Given the description of an element on the screen output the (x, y) to click on. 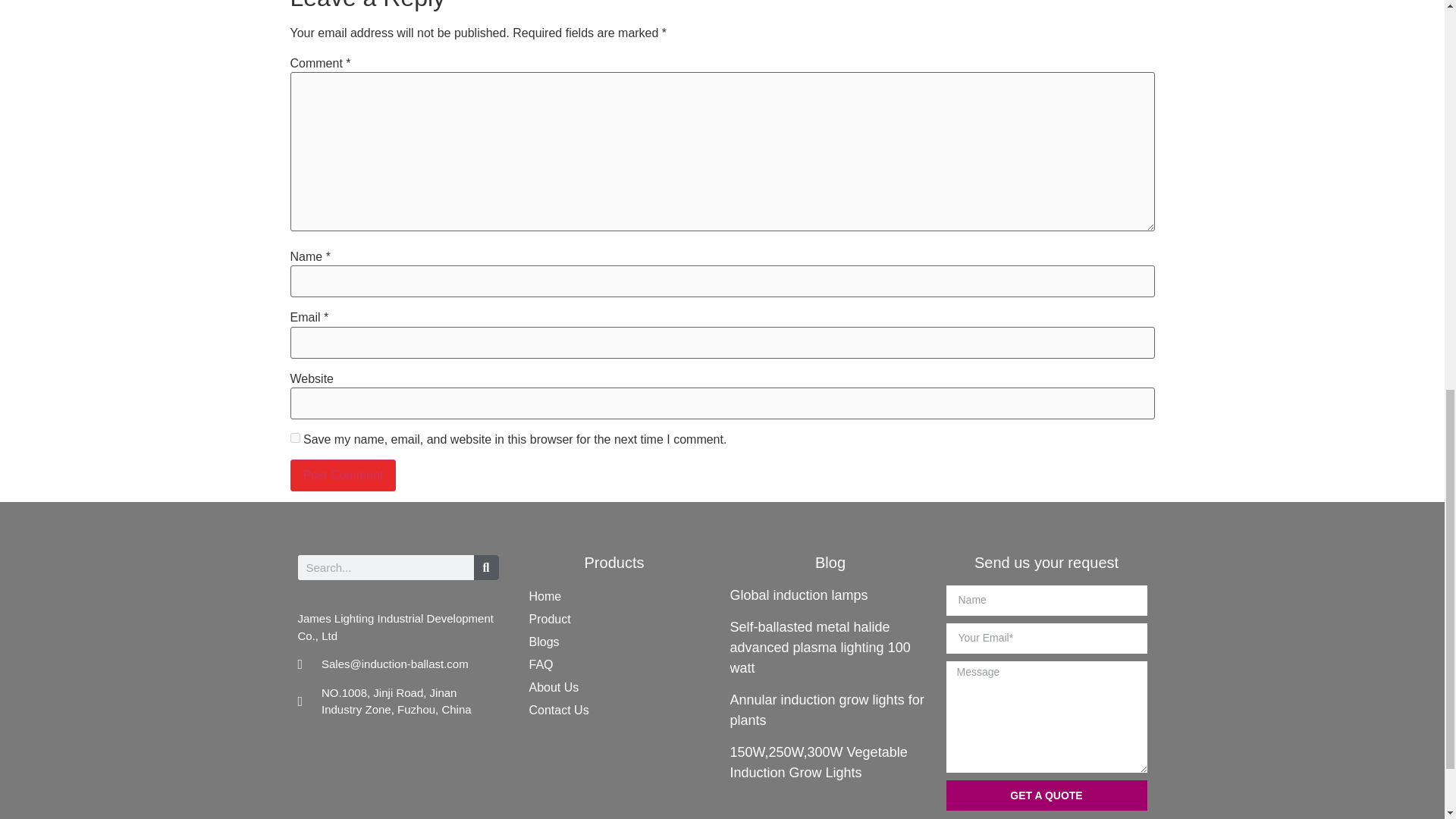
Home (613, 596)
Contact Us (613, 710)
Post Comment (342, 475)
yes (294, 438)
Post Comment (342, 475)
Blogs (613, 641)
About Us (613, 687)
Product (613, 619)
FAQ (613, 664)
